Given the description of an element on the screen output the (x, y) to click on. 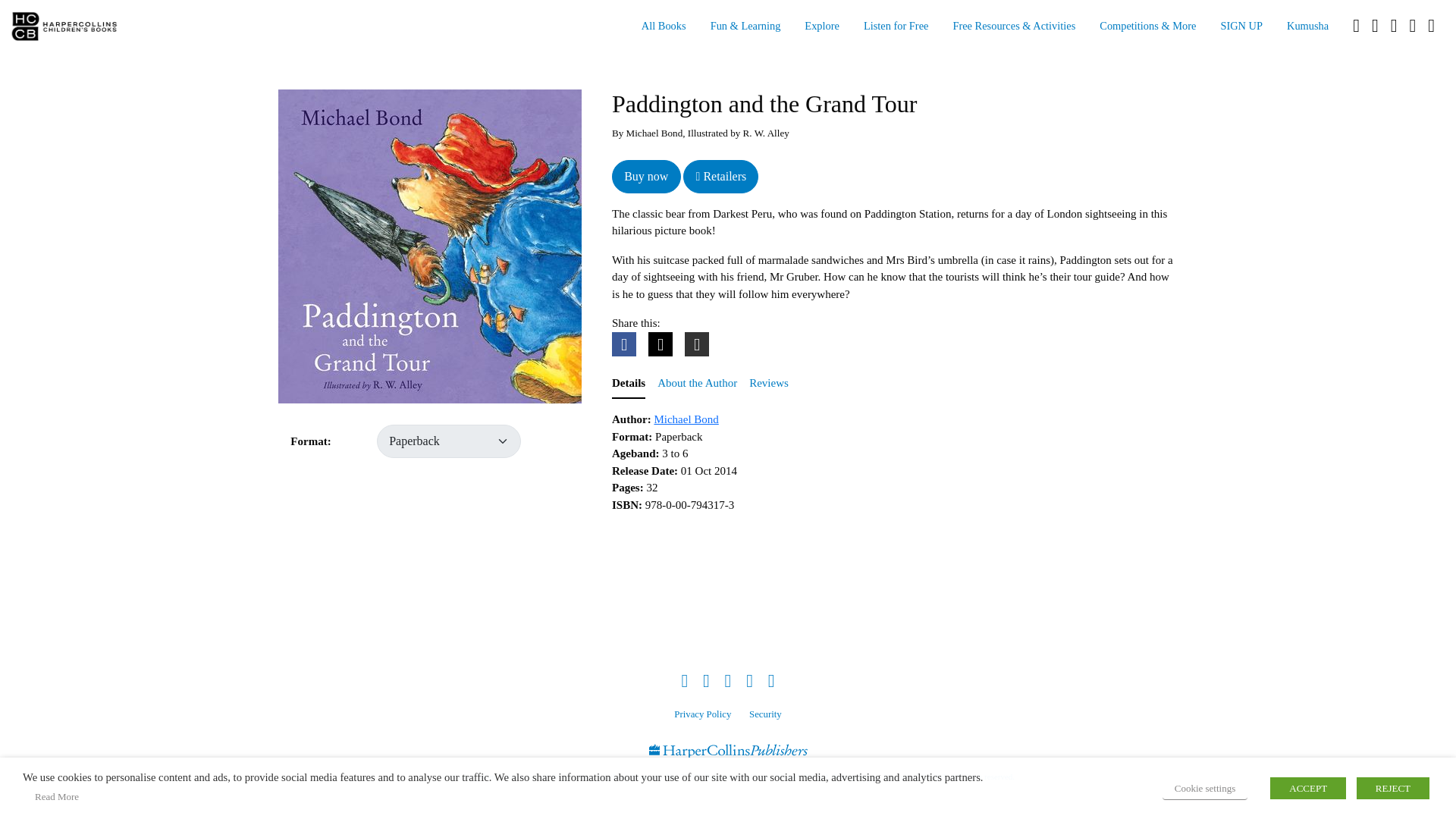
All Books (663, 26)
Listen for Free (895, 26)
Details (628, 383)
Explore (821, 26)
SIGN UP (1241, 26)
Reviews (769, 383)
Kumusha (1307, 26)
Buy now (646, 175)
About the Author (697, 383)
Michael Bond (685, 419)
Retailers (720, 175)
